Given the description of an element on the screen output the (x, y) to click on. 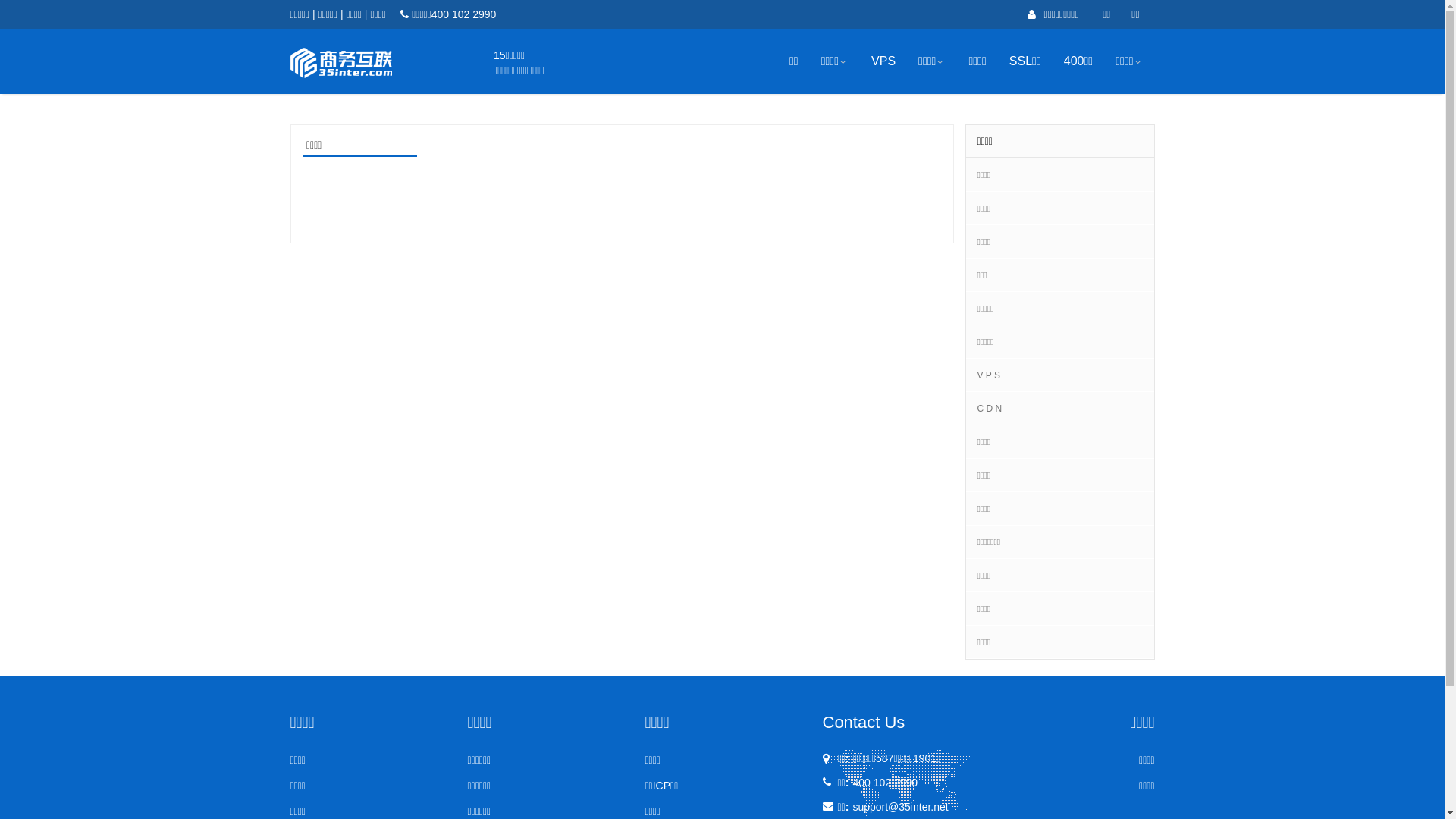
VPS Element type: text (882, 61)
V P S Element type: text (987, 375)
support@35inter.net Element type: text (899, 806)
C D N Element type: text (988, 408)
